Given the description of an element on the screen output the (x, y) to click on. 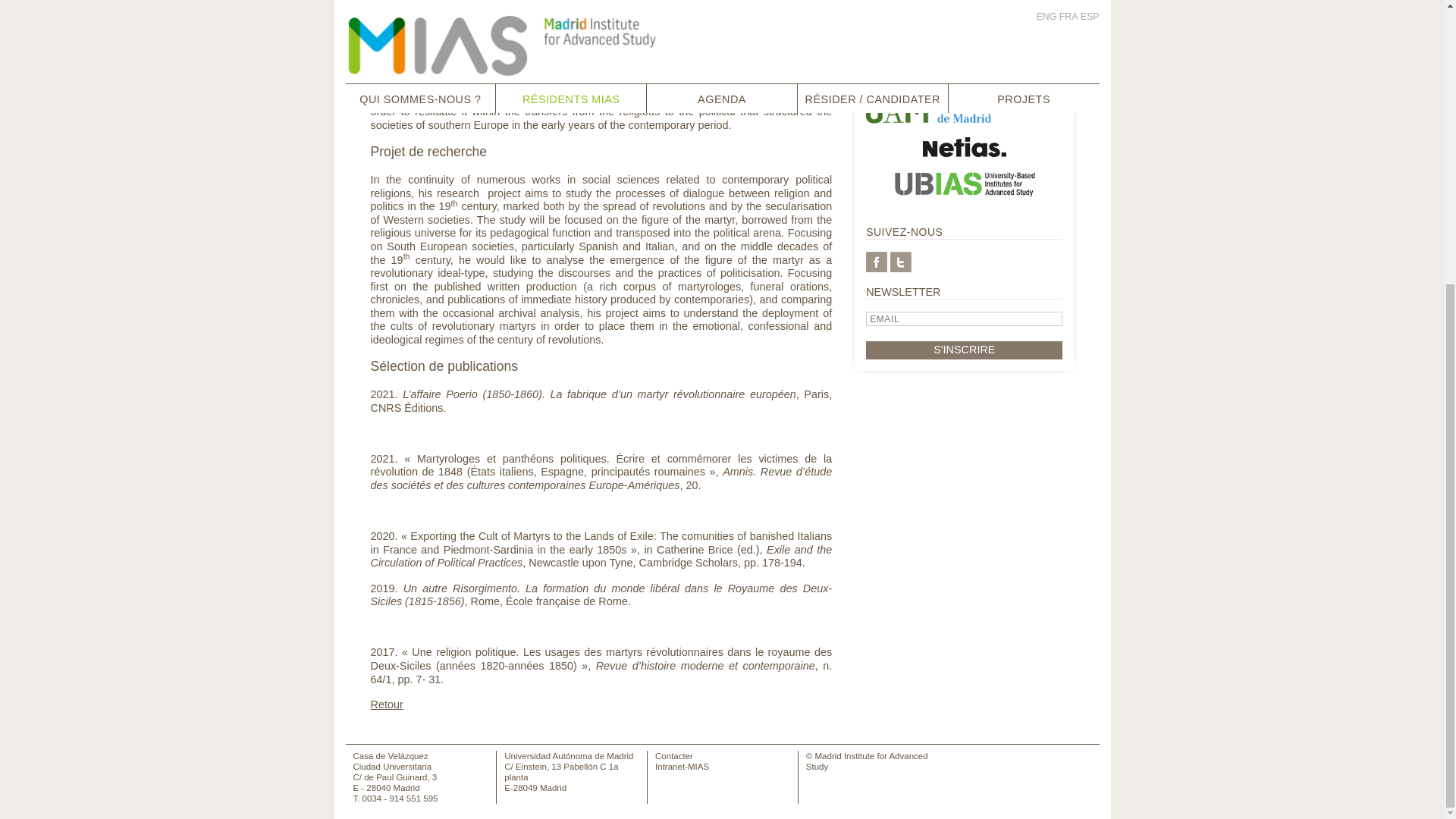
S'INSCRIRE (964, 350)
Twitter (900, 260)
Facebook (876, 260)
Retour (386, 704)
